Given the description of an element on the screen output the (x, y) to click on. 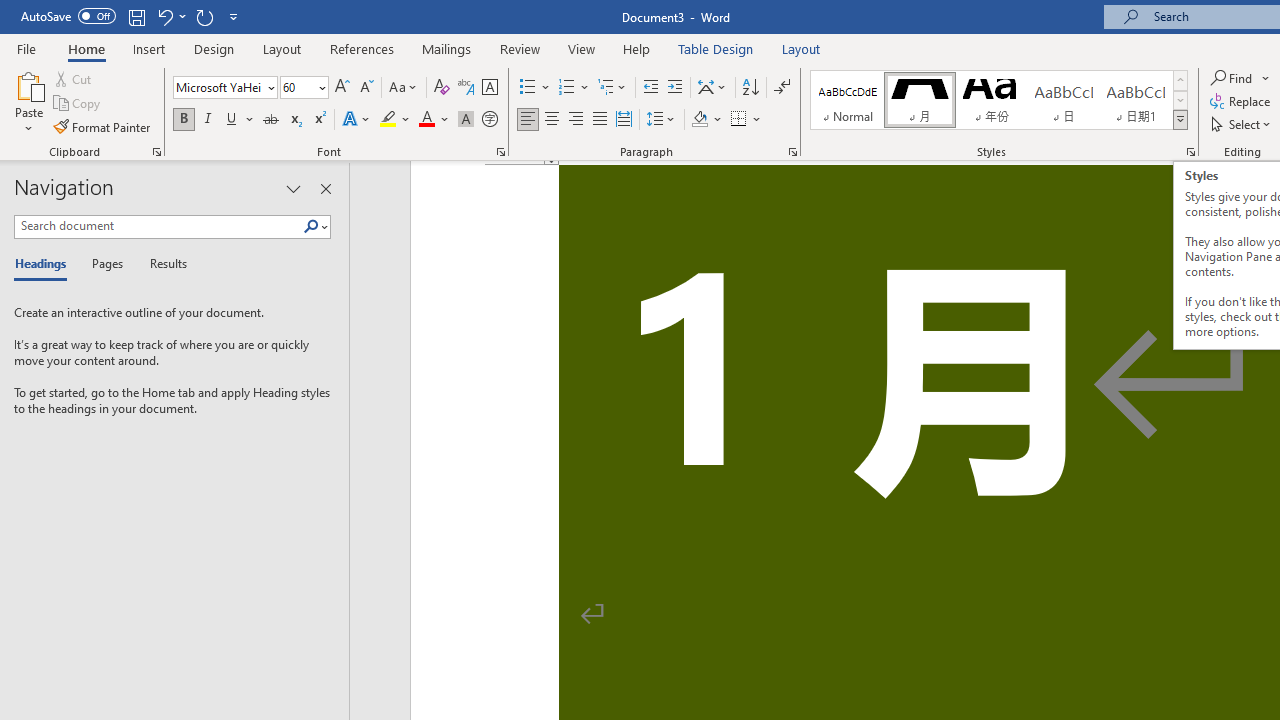
Undo Increase Indent (170, 15)
Distributed (623, 119)
Font... (500, 151)
Bullets (527, 87)
Find (1240, 78)
Row up (1179, 79)
Repeat Doc Close (204, 15)
More Options (1266, 78)
Select (1242, 124)
Underline (239, 119)
Customize Quick Access Toolbar (234, 15)
Close pane (325, 188)
Align Left (527, 119)
View (582, 48)
Mailings (447, 48)
